Given the description of an element on the screen output the (x, y) to click on. 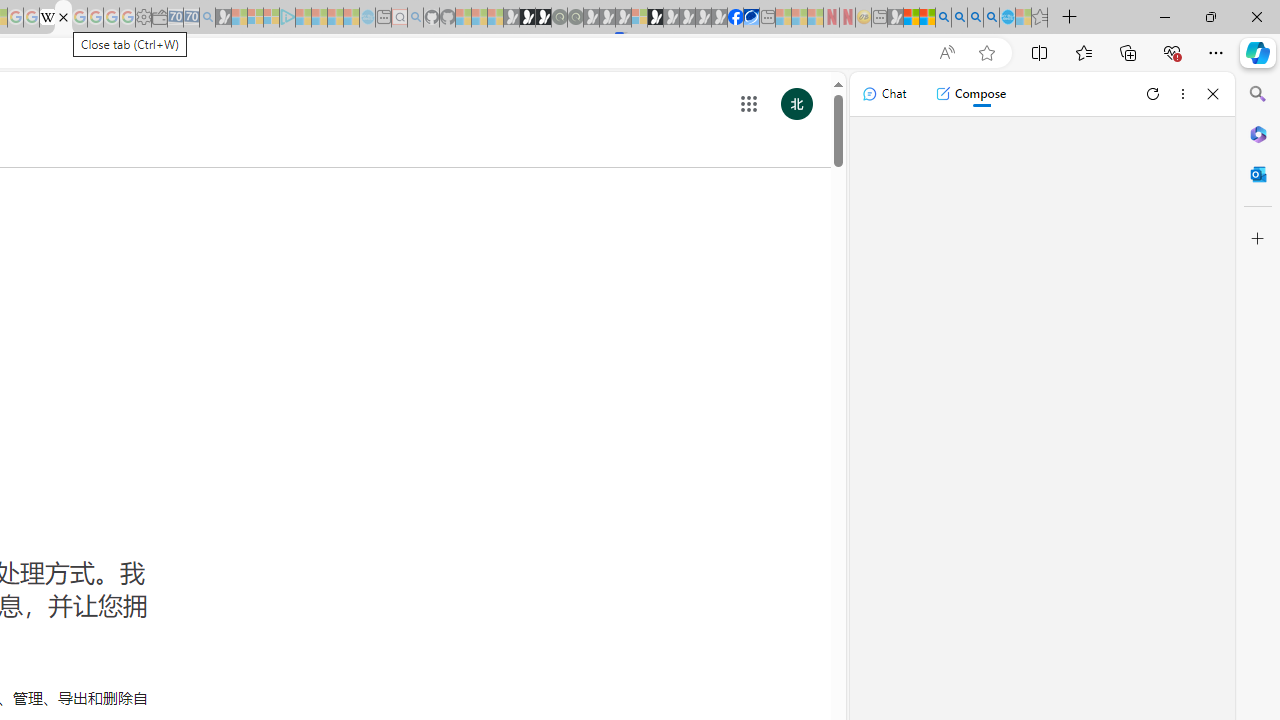
github - Search - Sleeping (415, 17)
Class: gb_E (749, 103)
